Given the description of an element on the screen output the (x, y) to click on. 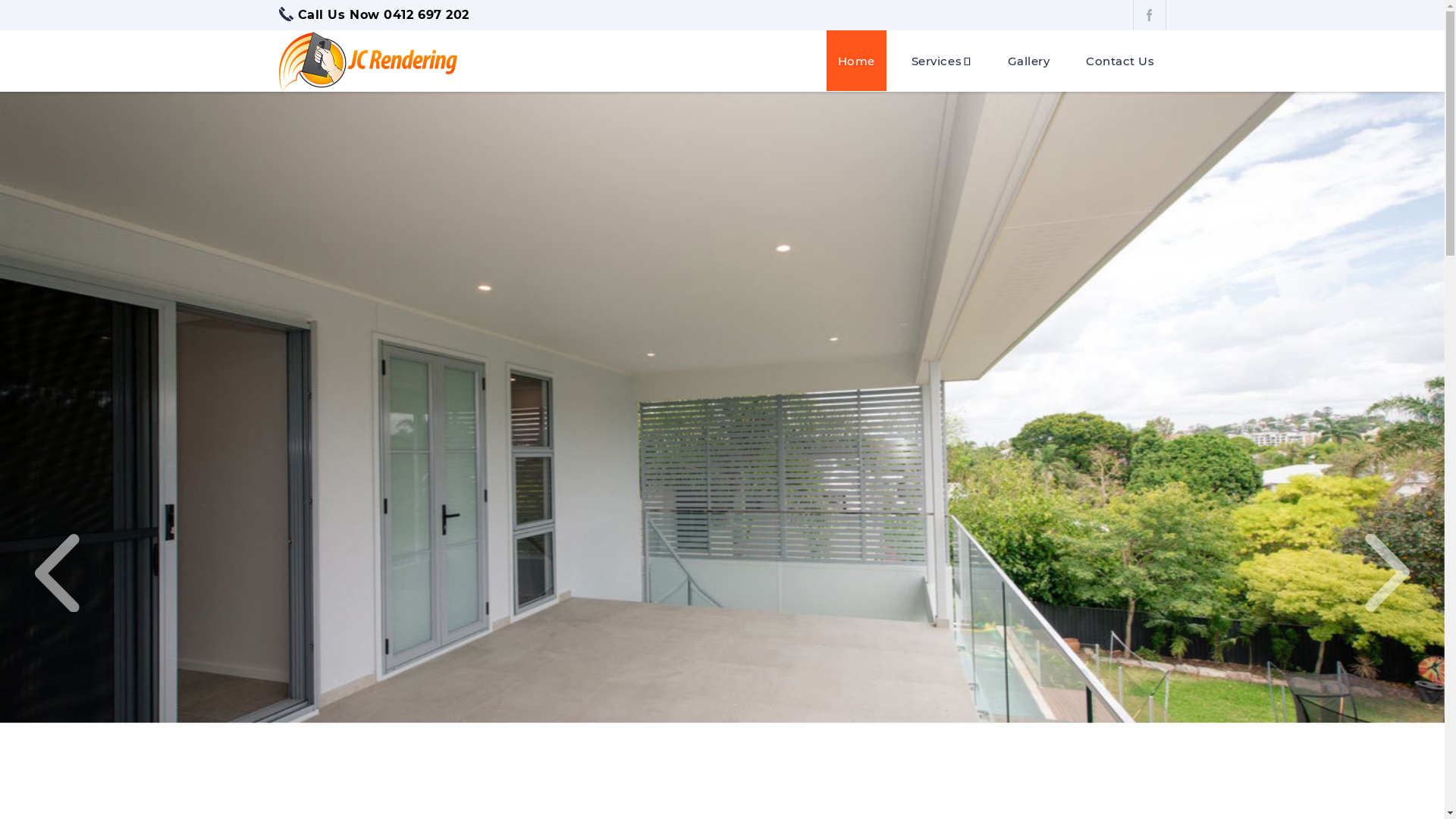
Gallery Element type: text (1028, 60)
Services Element type: text (941, 60)
Contact Us Element type: text (1119, 60)
Home Element type: text (856, 60)
Call Us Now 0412 697 202 Element type: text (374, 14)
